Given the description of an element on the screen output the (x, y) to click on. 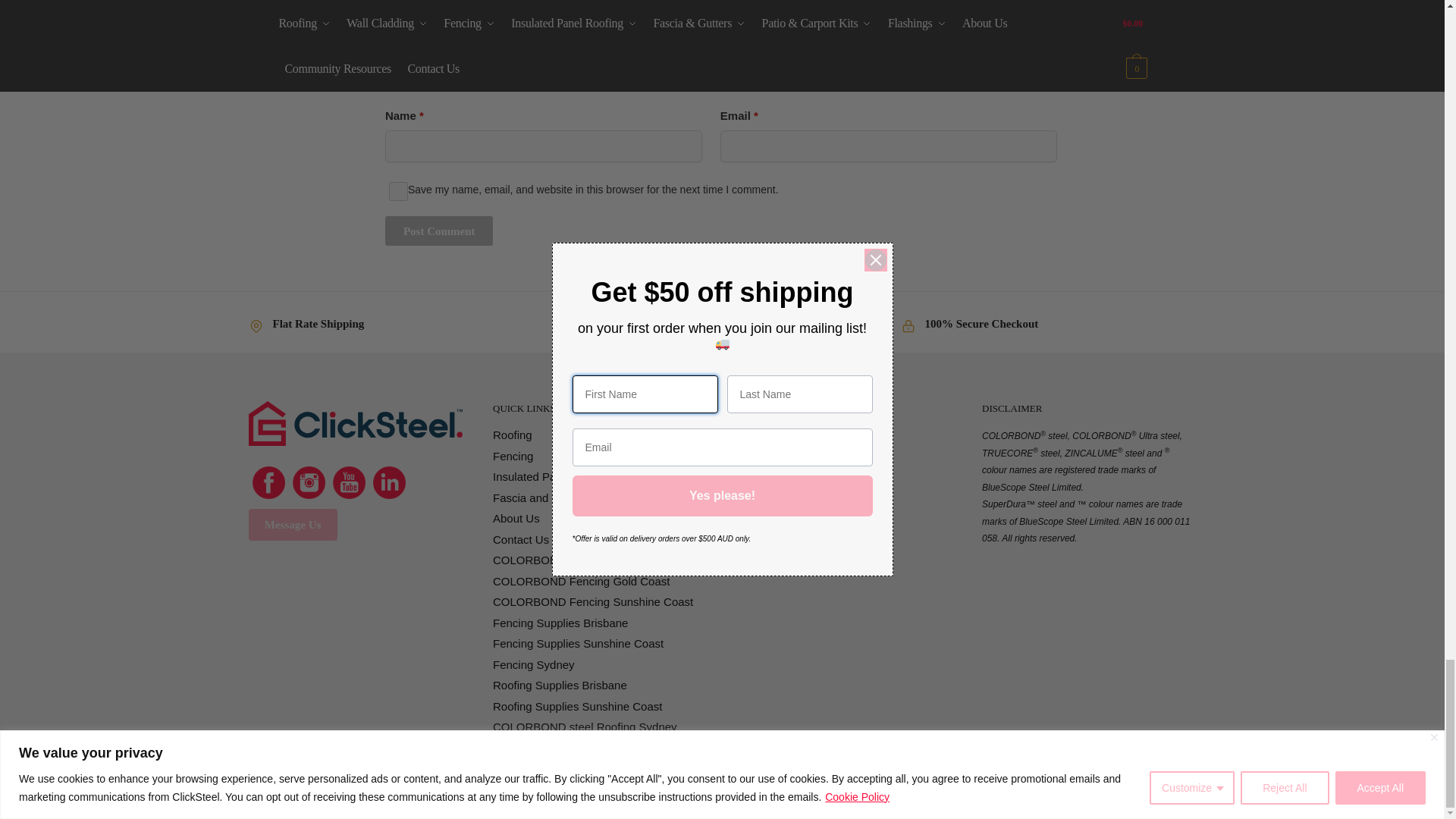
Post Comment (439, 230)
yes (398, 190)
